Given the description of an element on the screen output the (x, y) to click on. 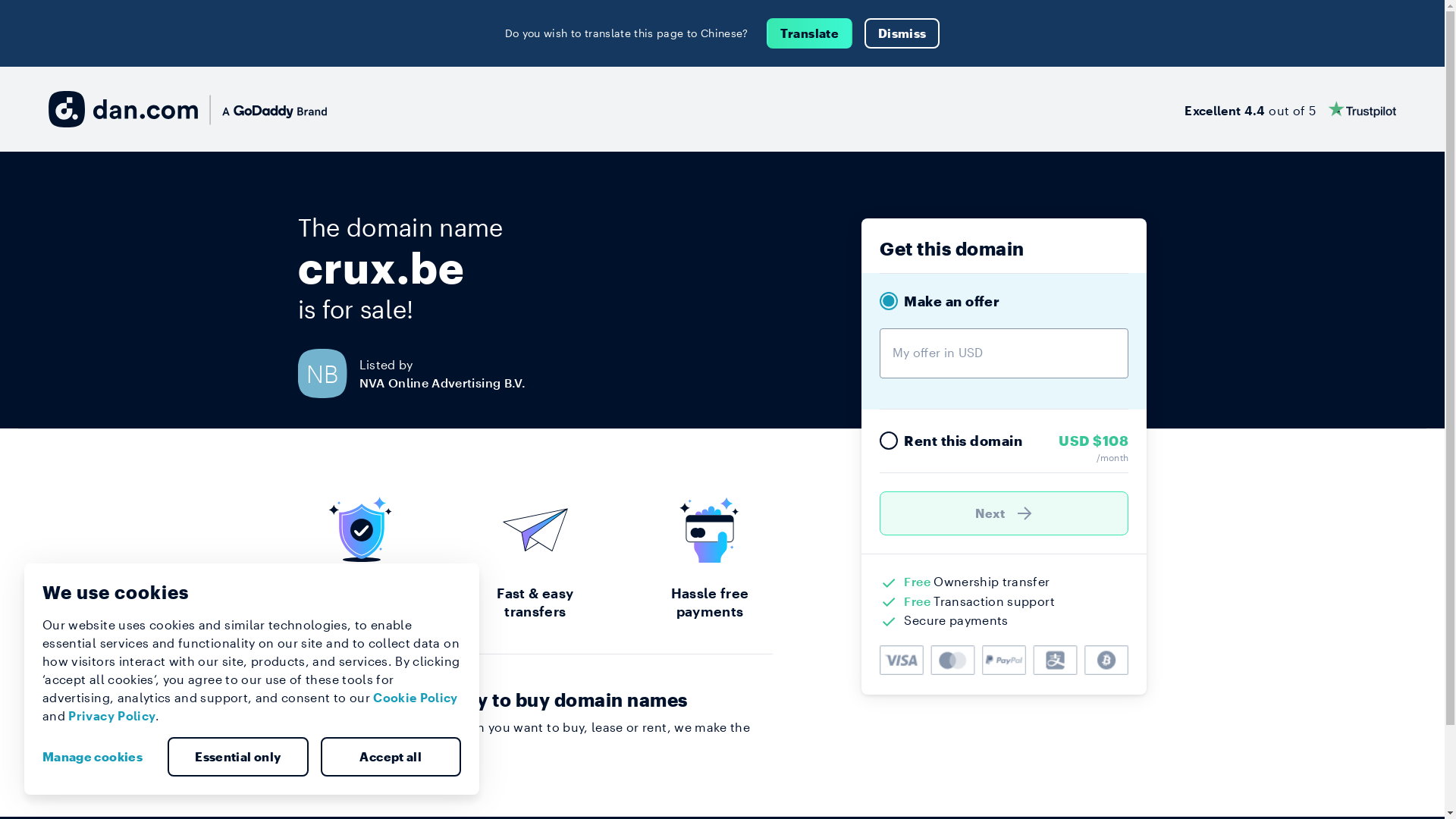
Privacy Policy Element type: text (111, 715)
Essential only Element type: text (237, 756)
Translate Element type: text (809, 33)
Accept all Element type: text (390, 756)
Dismiss Element type: text (901, 33)
Excellent 4.4 out of 5 Element type: text (1290, 109)
Cookie Policy Element type: text (415, 697)
Manage cookies Element type: text (98, 756)
Next
) Element type: text (1003, 513)
